Given the description of an element on the screen output the (x, y) to click on. 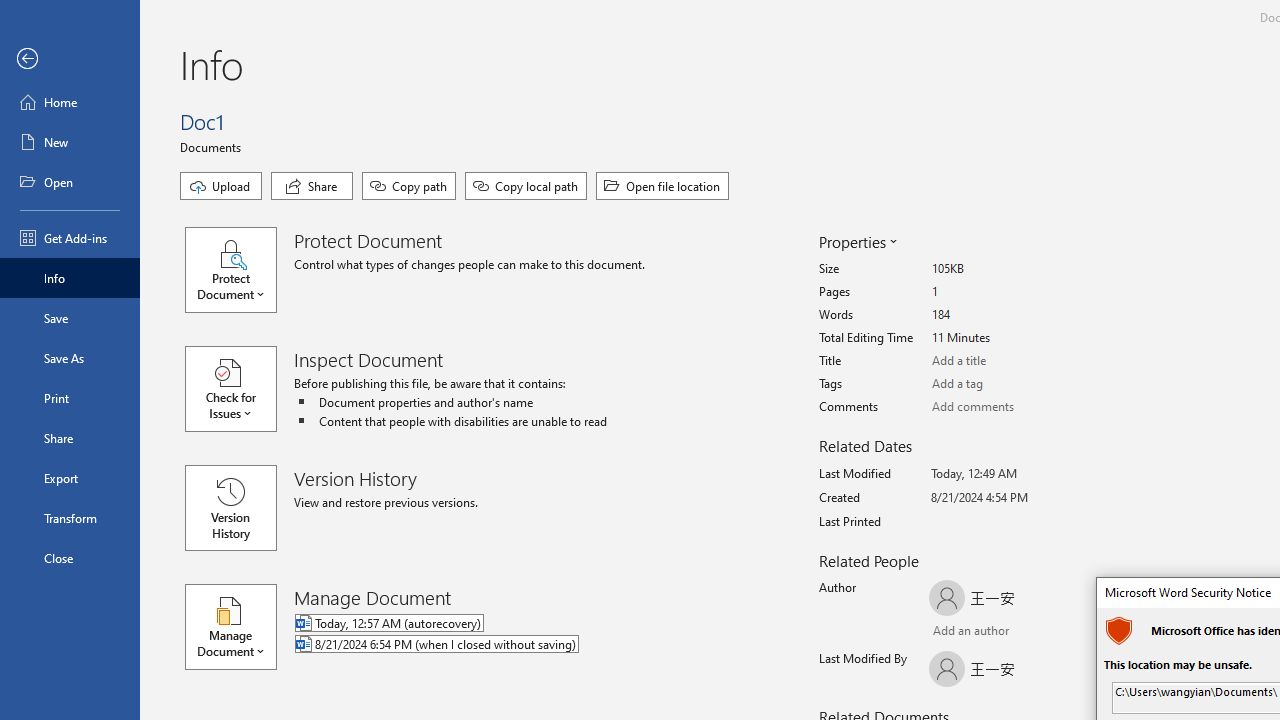
Browse Address Book (1047, 633)
Add an author (949, 632)
Documents (213, 146)
Transform (69, 517)
Total Editing Time (1006, 338)
Manage Document (239, 626)
Get Add-ins (69, 237)
Size (1006, 269)
Open file location (662, 186)
